Given the description of an element on the screen output the (x, y) to click on. 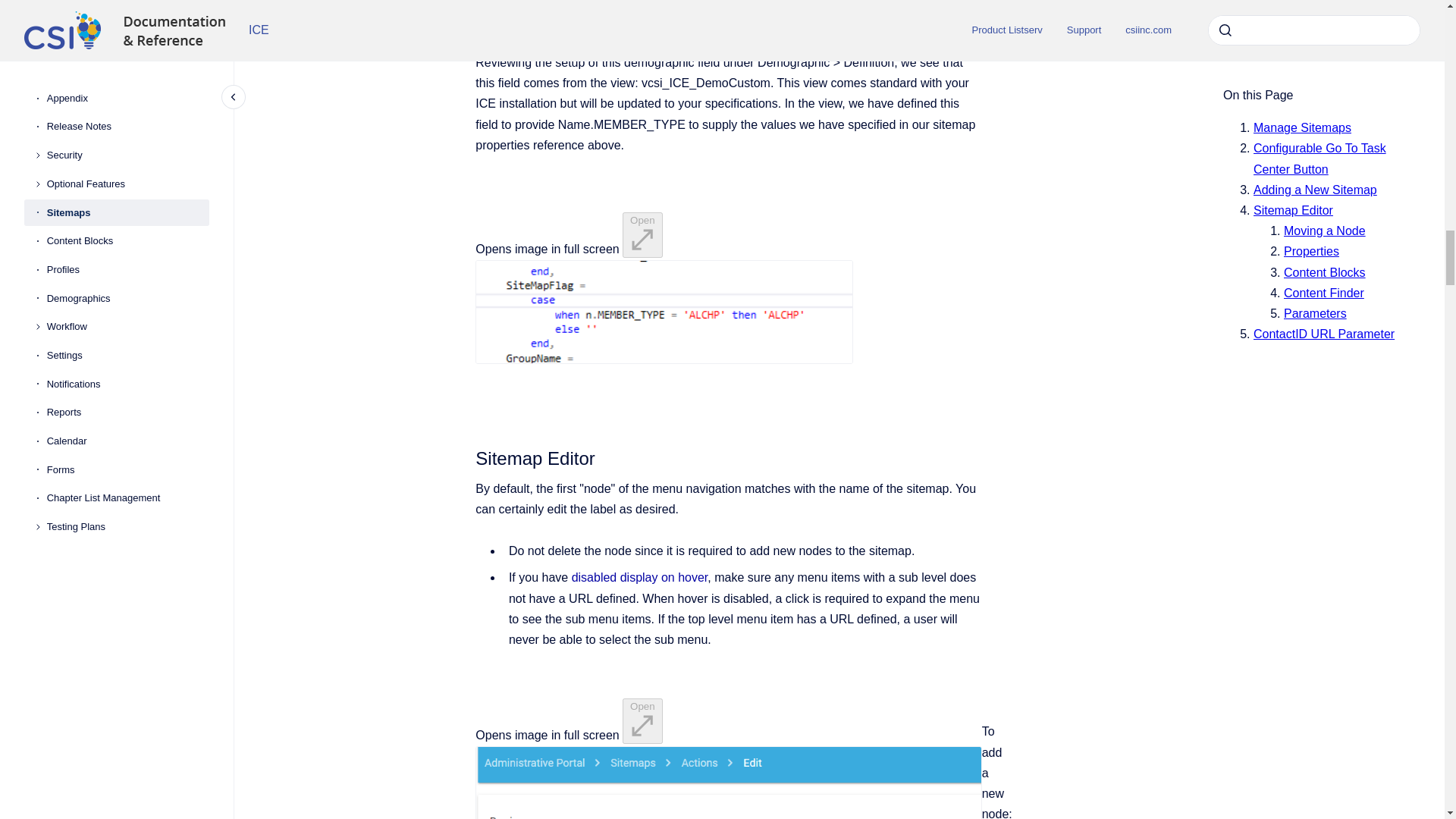
disabled display on hover (639, 576)
Copy to clipboard (468, 456)
